Given the description of an element on the screen output the (x, y) to click on. 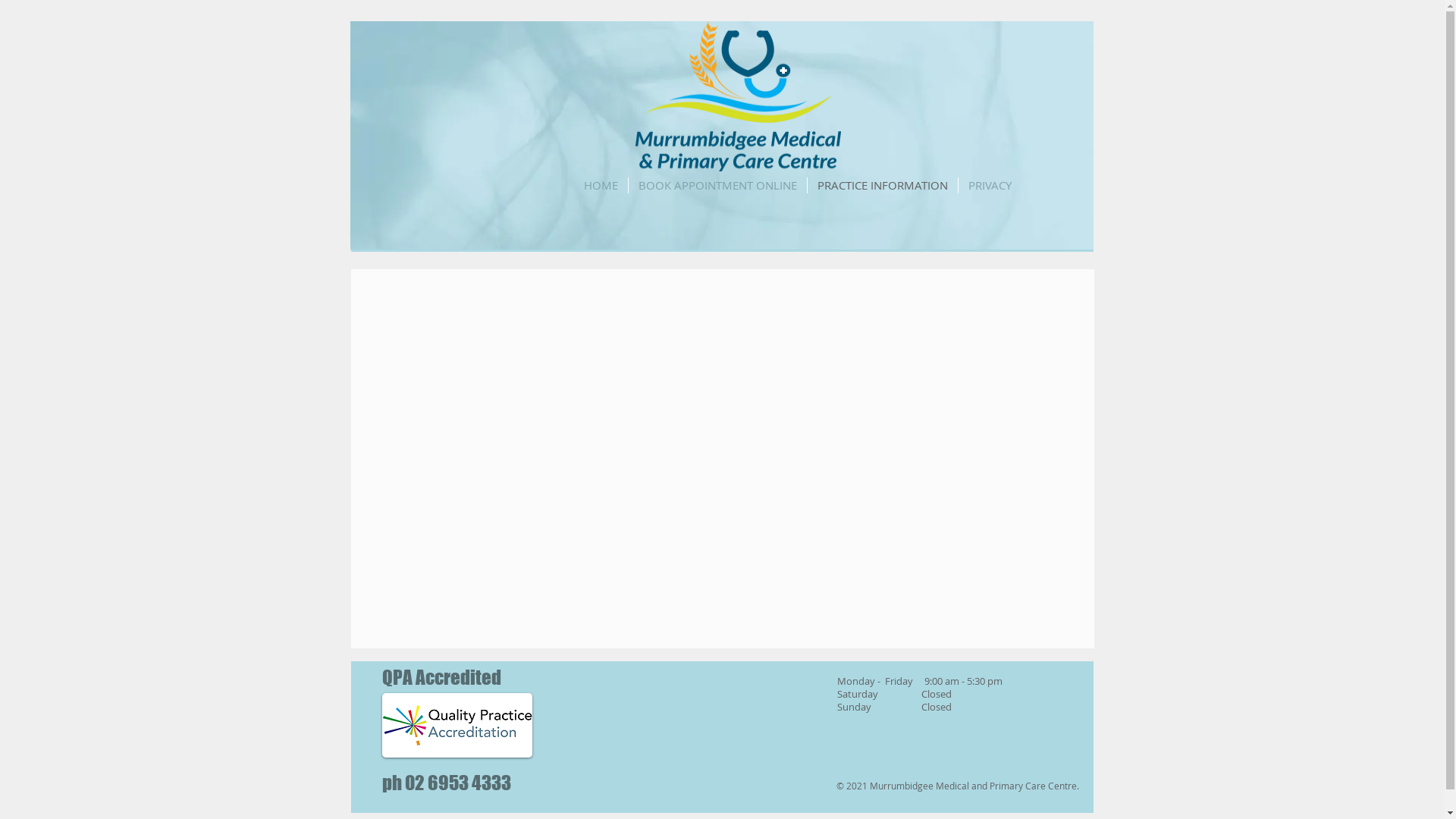
PRIVACY Element type: text (989, 185)
logo.png Element type: hover (457, 725)
MMPCC-MASTER-LOGO-TRANSPARENT.png Element type: hover (737, 96)
HOME Element type: text (600, 185)
PRACTICE INFORMATION Element type: text (881, 185)
BOOK APPOINTMENT ONLINE Element type: text (716, 185)
